Given the description of an element on the screen output the (x, y) to click on. 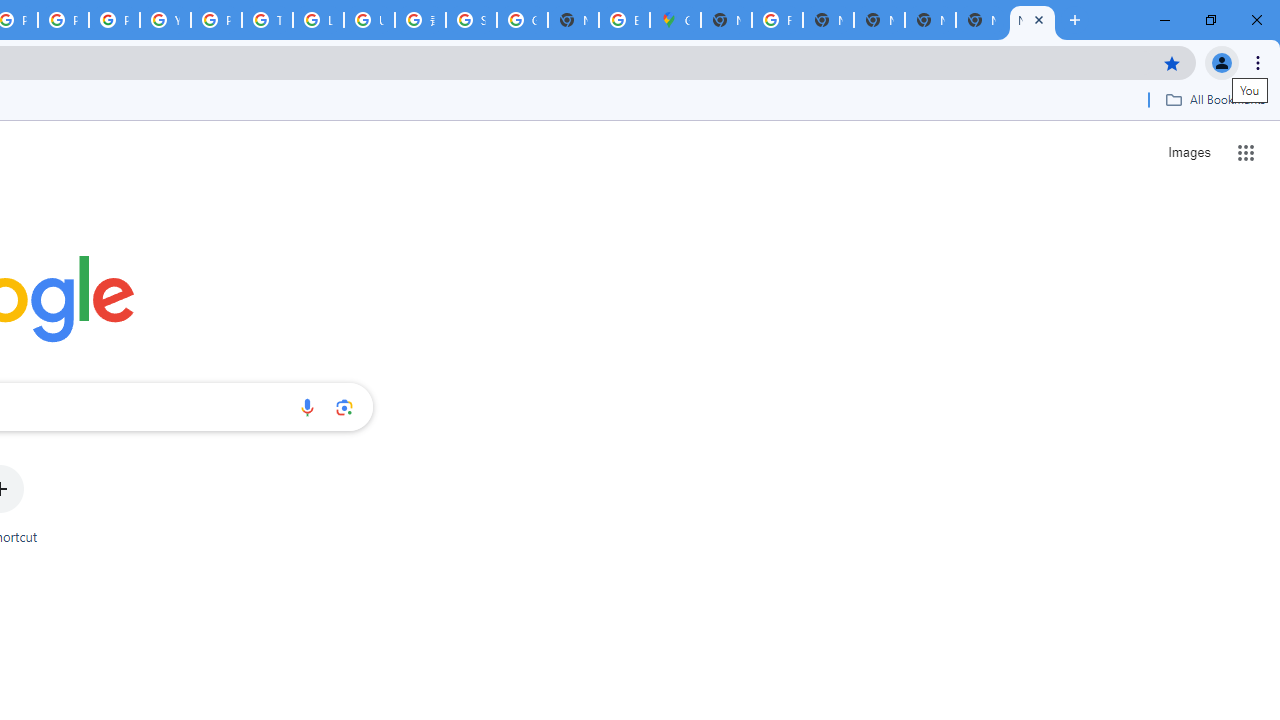
Tips & tricks for Chrome - Google Chrome Help (267, 20)
Privacy Help Center - Policies Help (63, 20)
Explore new street-level details - Google Maps Help (624, 20)
New Tab (981, 20)
YouTube (164, 20)
